Given the description of an element on the screen output the (x, y) to click on. 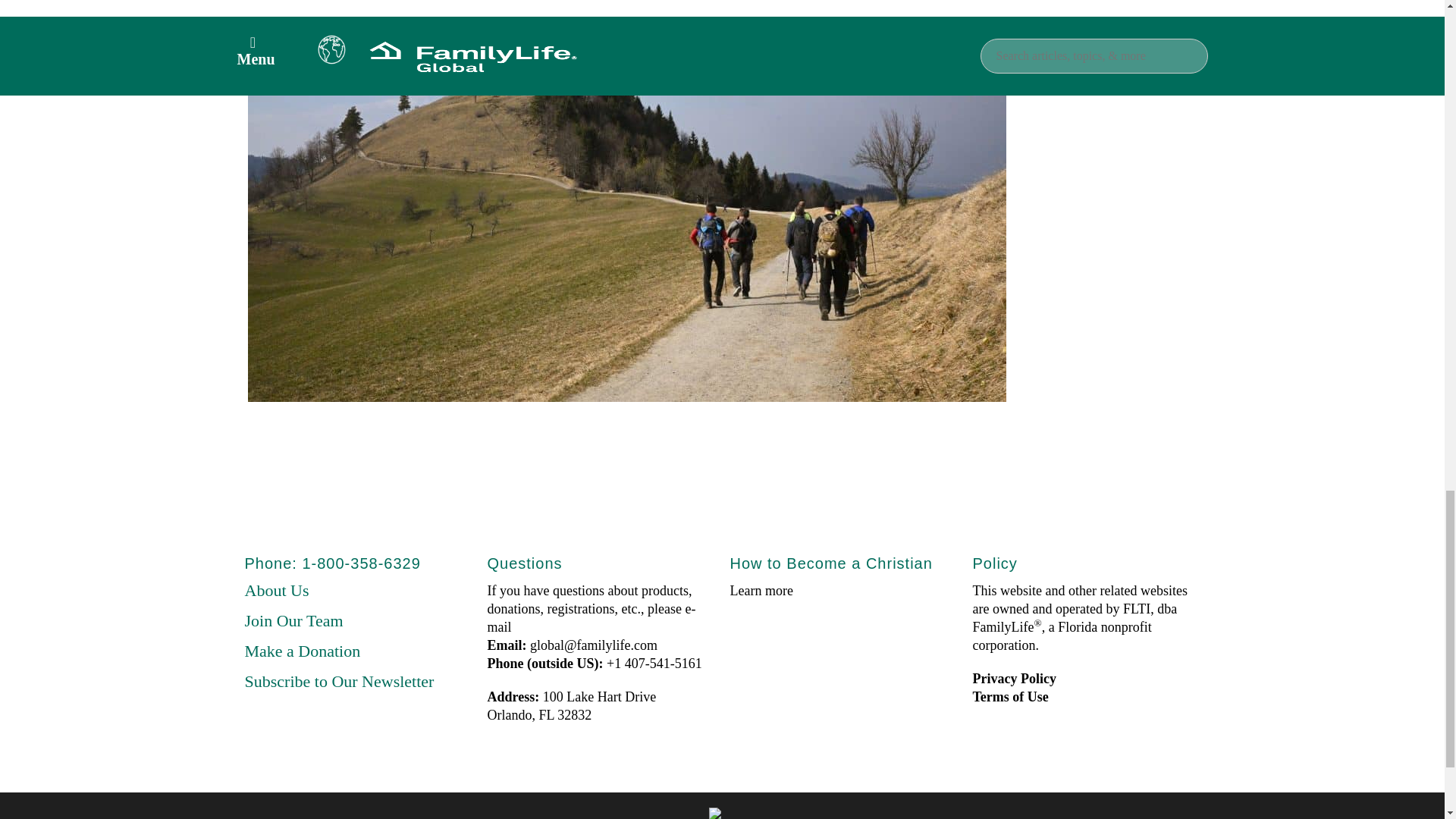
Subscribe to Our Newsletter (338, 681)
Make a Donation (301, 650)
About Us (276, 589)
Terms of Use (1010, 696)
Join Our Team (293, 619)
Learn more (760, 590)
Privacy Policy (1013, 678)
